Given the description of an element on the screen output the (x, y) to click on. 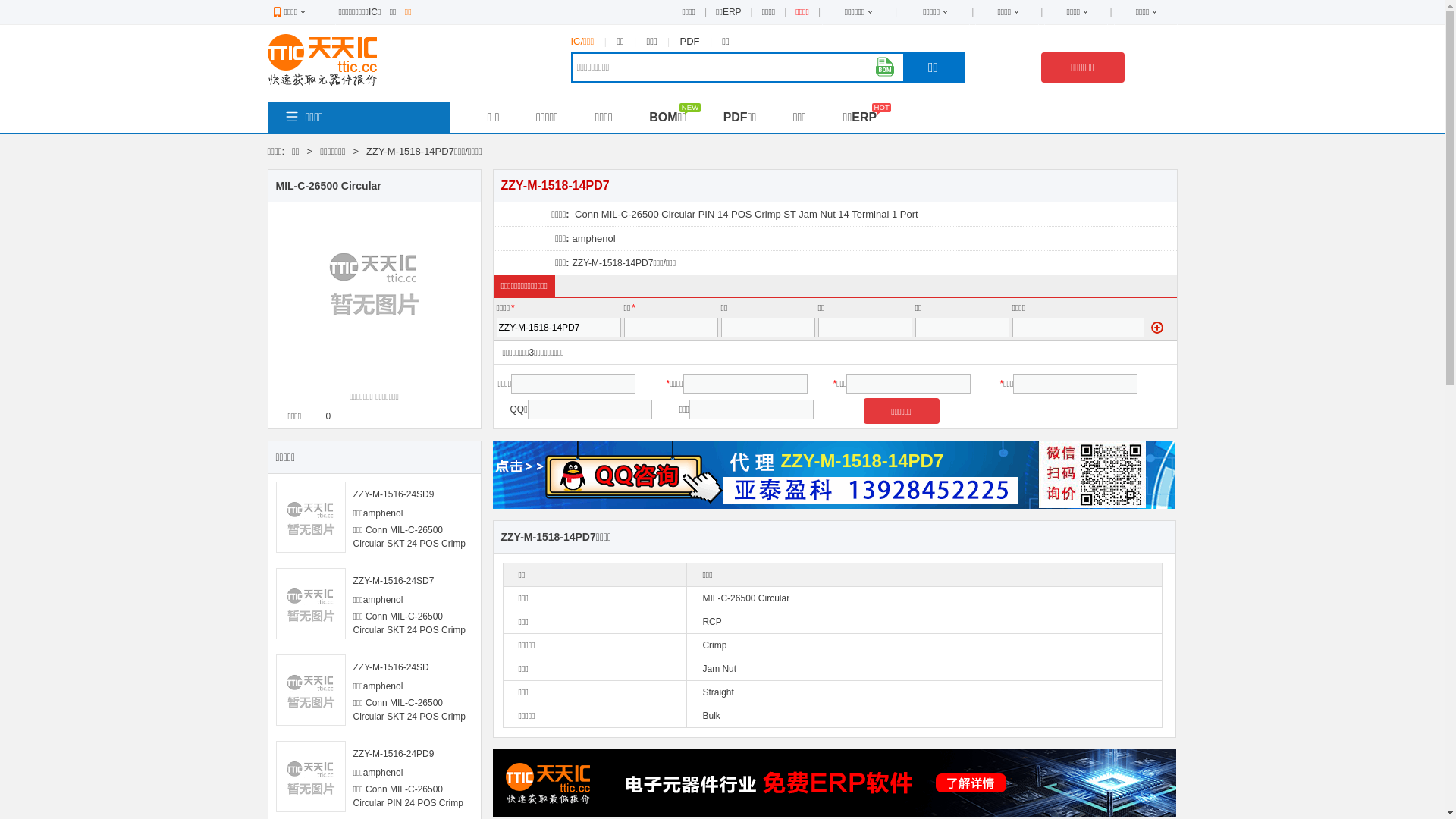
ZZY-M-1516-24SD7 Element type: text (393, 580)
ZZY-M-1516-24SD9 Element type: text (393, 494)
PDF Element type: text (689, 41)
ZZY-M-1516-24SD Element type: text (391, 667)
ZZY-M-1516-24PD9 Element type: text (393, 753)
ZZY-M-1518-14PD7 Element type: text (833, 505)
